Given the description of an element on the screen output the (x, y) to click on. 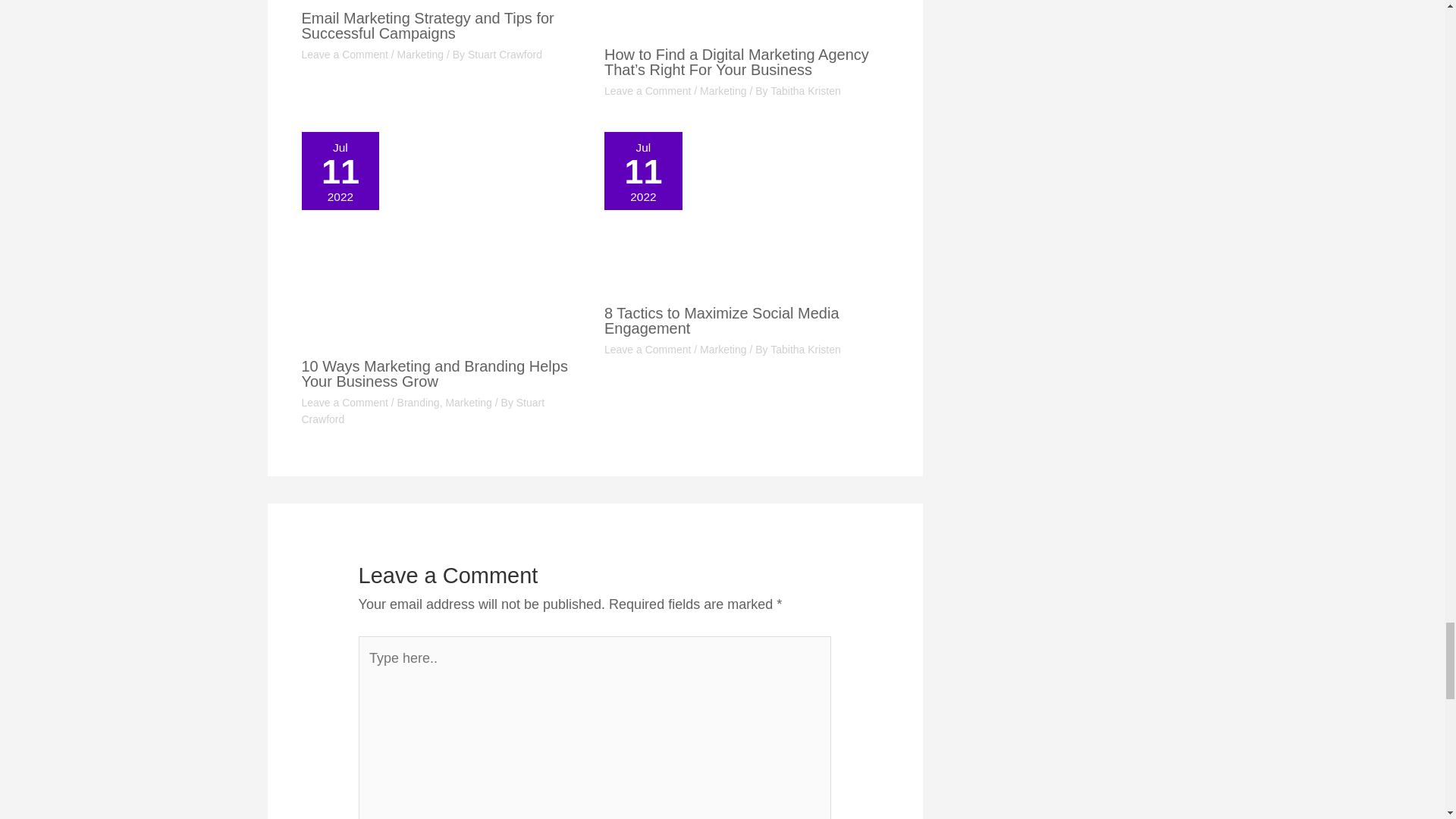
View all posts by Tabitha Kristen (805, 91)
View all posts by Tabitha Kristen (805, 349)
View all posts by Stuart Crawford (422, 410)
View all posts by Stuart Crawford (504, 54)
